Given the description of an element on the screen output the (x, y) to click on. 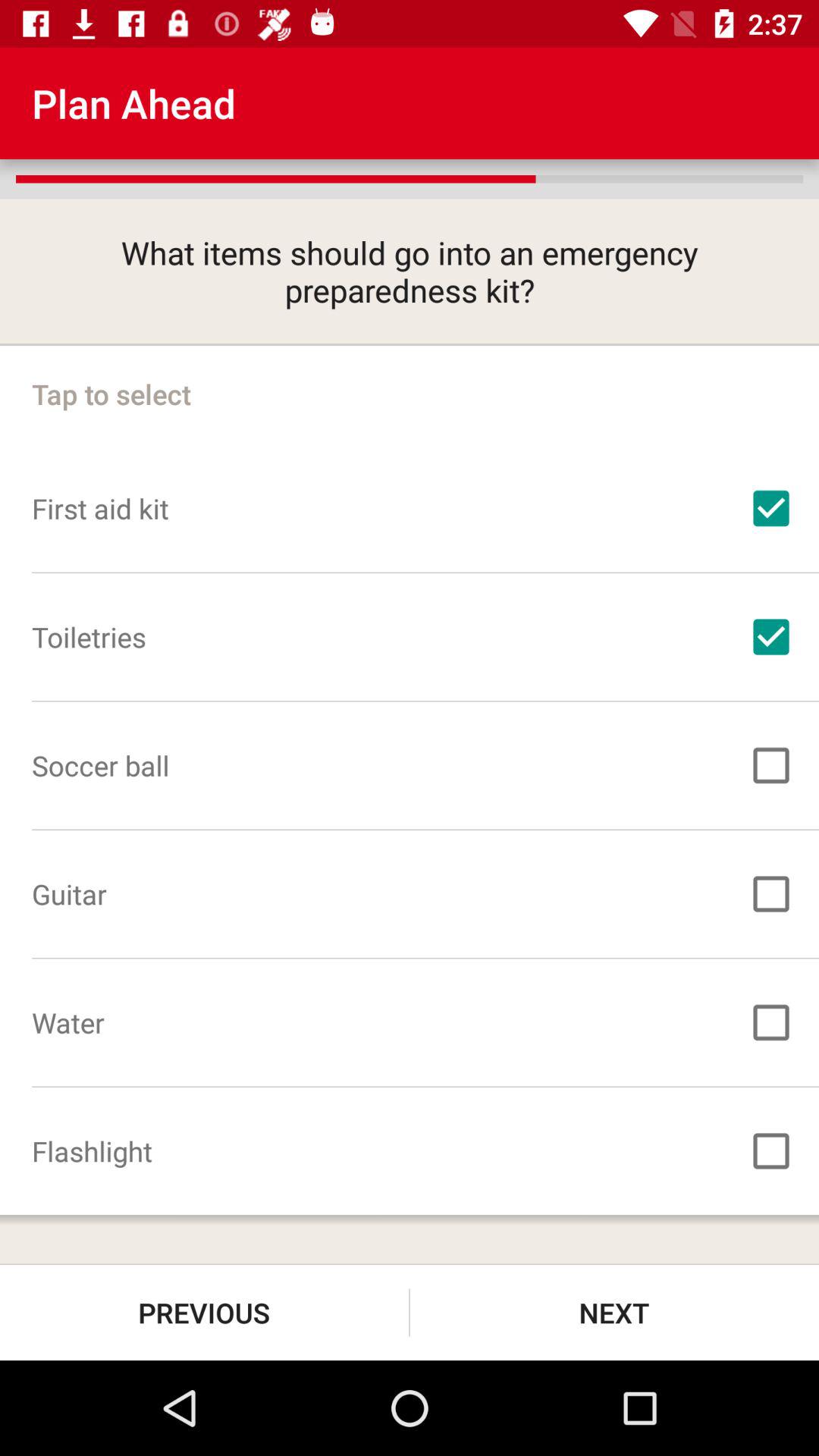
select the previous icon (204, 1312)
